Given the description of an element on the screen output the (x, y) to click on. 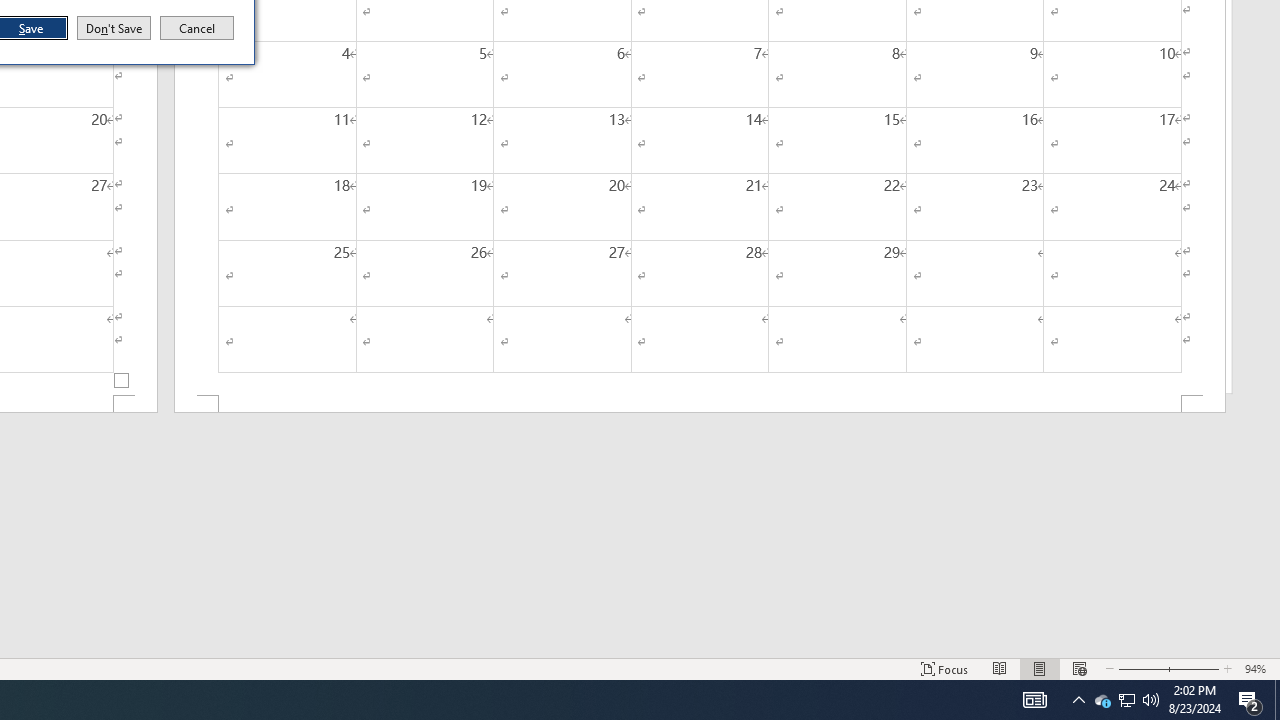
Footer -Section 2- (700, 404)
Don't Save (113, 27)
